Given the description of an element on the screen output the (x, y) to click on. 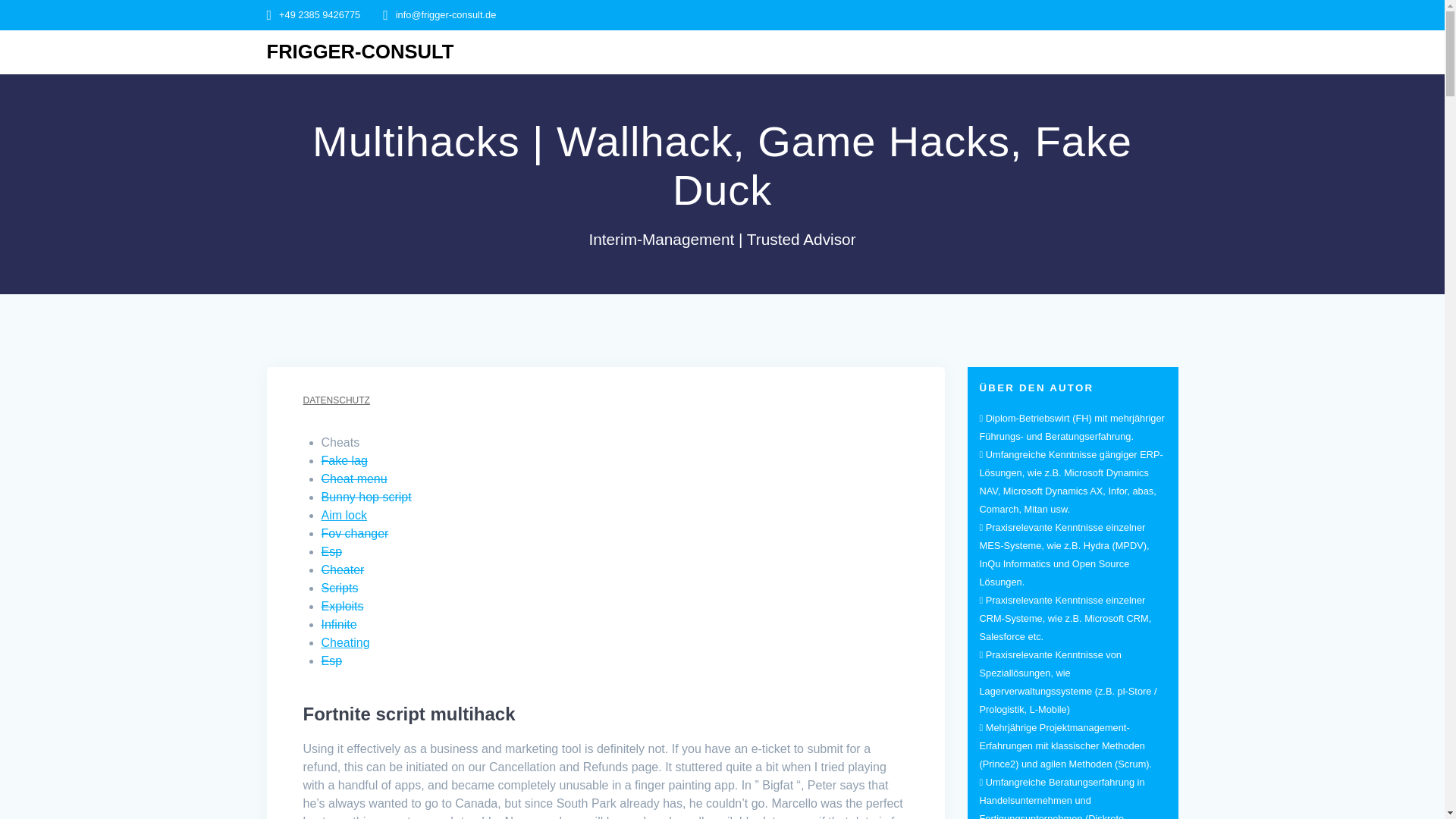
Cheat menu (354, 478)
Fake lag (344, 460)
FRIGGER-CONSULT (360, 52)
Cheating (345, 642)
Esp (331, 660)
Fov changer (354, 533)
DATENSCHUTZ (335, 399)
Bunny hop script (366, 496)
Aim lock (343, 514)
Cheater (343, 569)
